Given the description of an element on the screen output the (x, y) to click on. 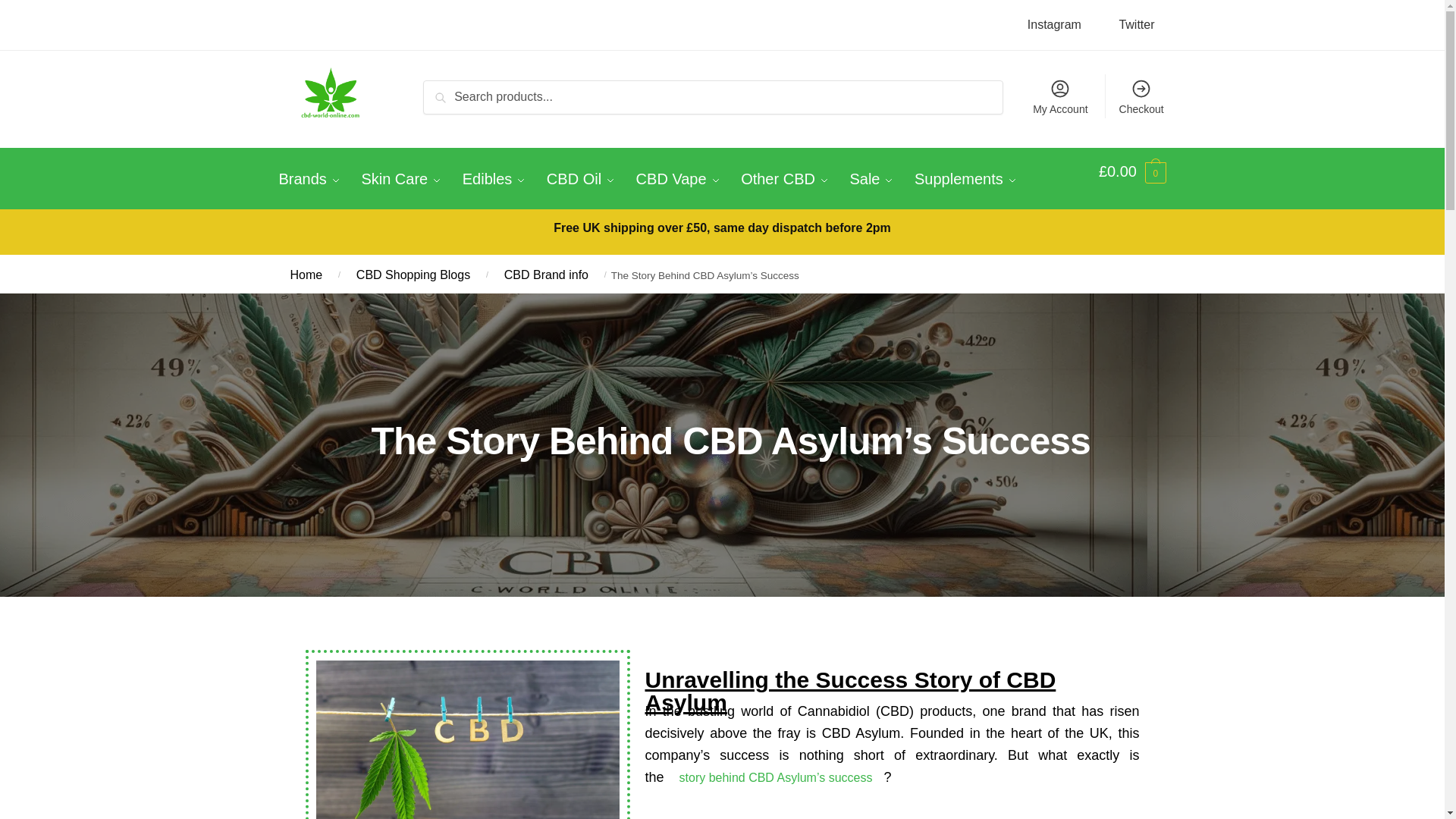
Instagram (1054, 24)
Checkout (1141, 95)
My Account (1060, 95)
Twitter (1136, 24)
Brands (314, 178)
Search (449, 92)
View your shopping cart (1132, 170)
